Given the description of an element on the screen output the (x, y) to click on. 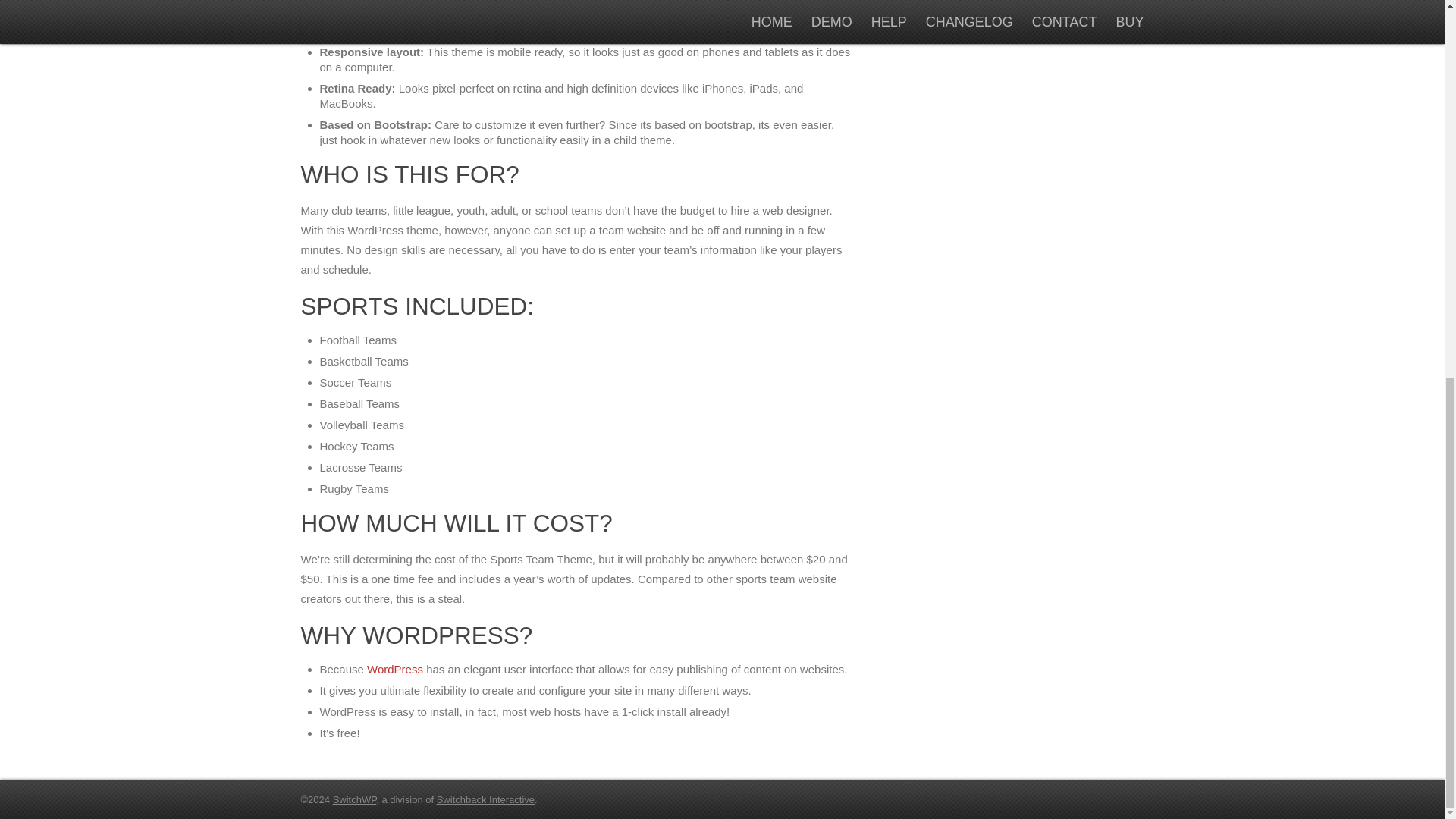
Switchback Interactive (485, 799)
SwitchWP (355, 799)
WordPress (394, 668)
